Given the description of an element on the screen output the (x, y) to click on. 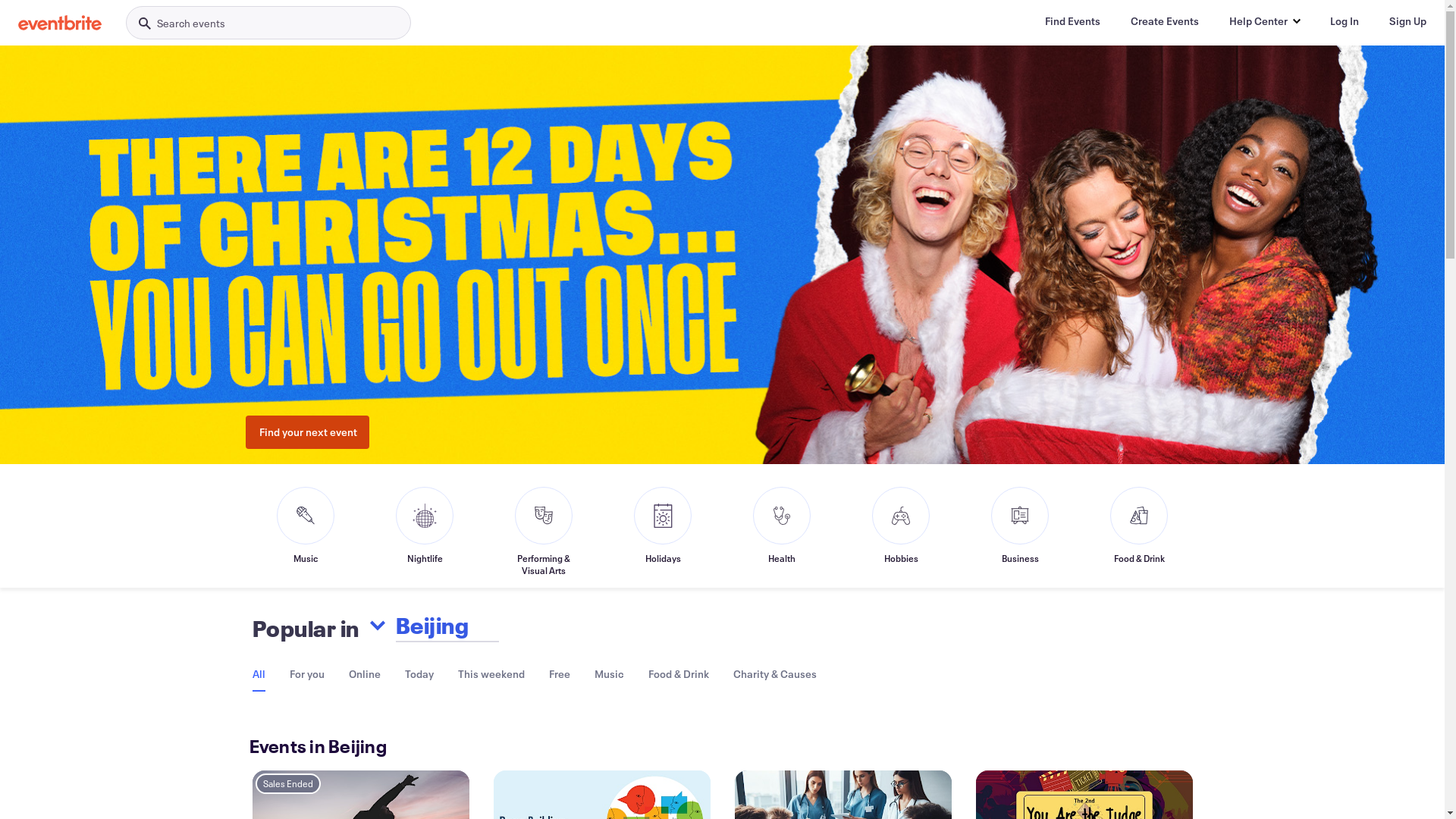
Online Element type: text (364, 673)
Charity & Causes Element type: text (773, 673)
Health Element type: text (781, 531)
Search events Element type: text (268, 22)
Sign Up Element type: text (1407, 21)
Eventbrite Element type: hover (59, 22)
Free Element type: text (559, 673)
All Element type: text (257, 674)
Music Element type: text (305, 531)
Food & Drink Element type: text (677, 673)
Create Events Element type: text (1164, 21)
Nightlife Element type: text (424, 531)
This weekend Element type: text (491, 673)
For you Element type: text (306, 673)
Music Element type: text (609, 673)
Hobbies Element type: text (900, 531)
Find Events Element type: text (1072, 21)
Holidays Element type: text (662, 531)
Find your next event Element type: text (307, 431)
Today Element type: text (418, 673)
Food & Drink Element type: text (1138, 531)
Performing & Visual Arts Element type: text (543, 531)
Log In Element type: text (1344, 21)
Business Element type: text (1019, 531)
